Given the description of an element on the screen output the (x, y) to click on. 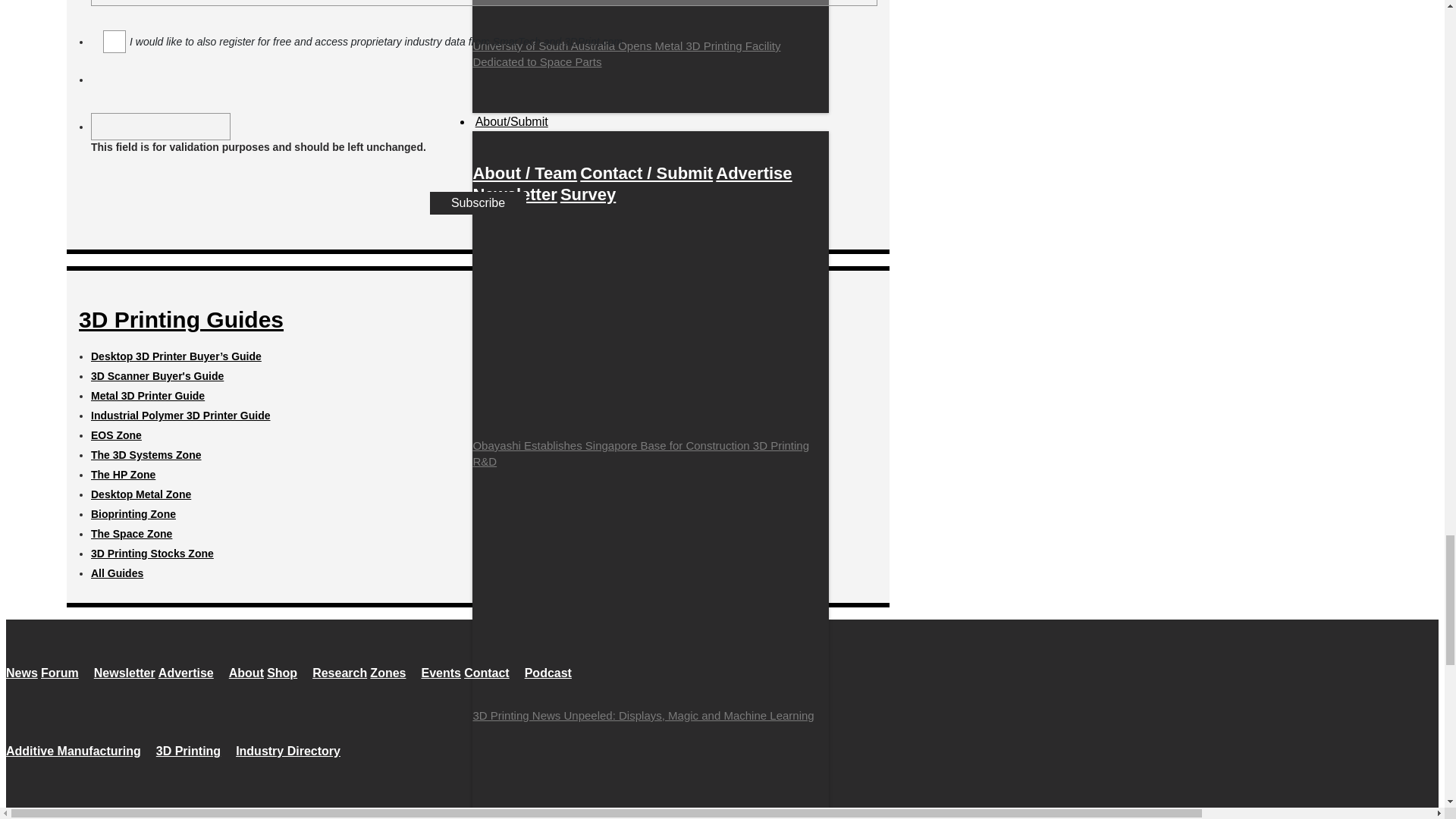
Subscribe (477, 202)
